Given the description of an element on the screen output the (x, y) to click on. 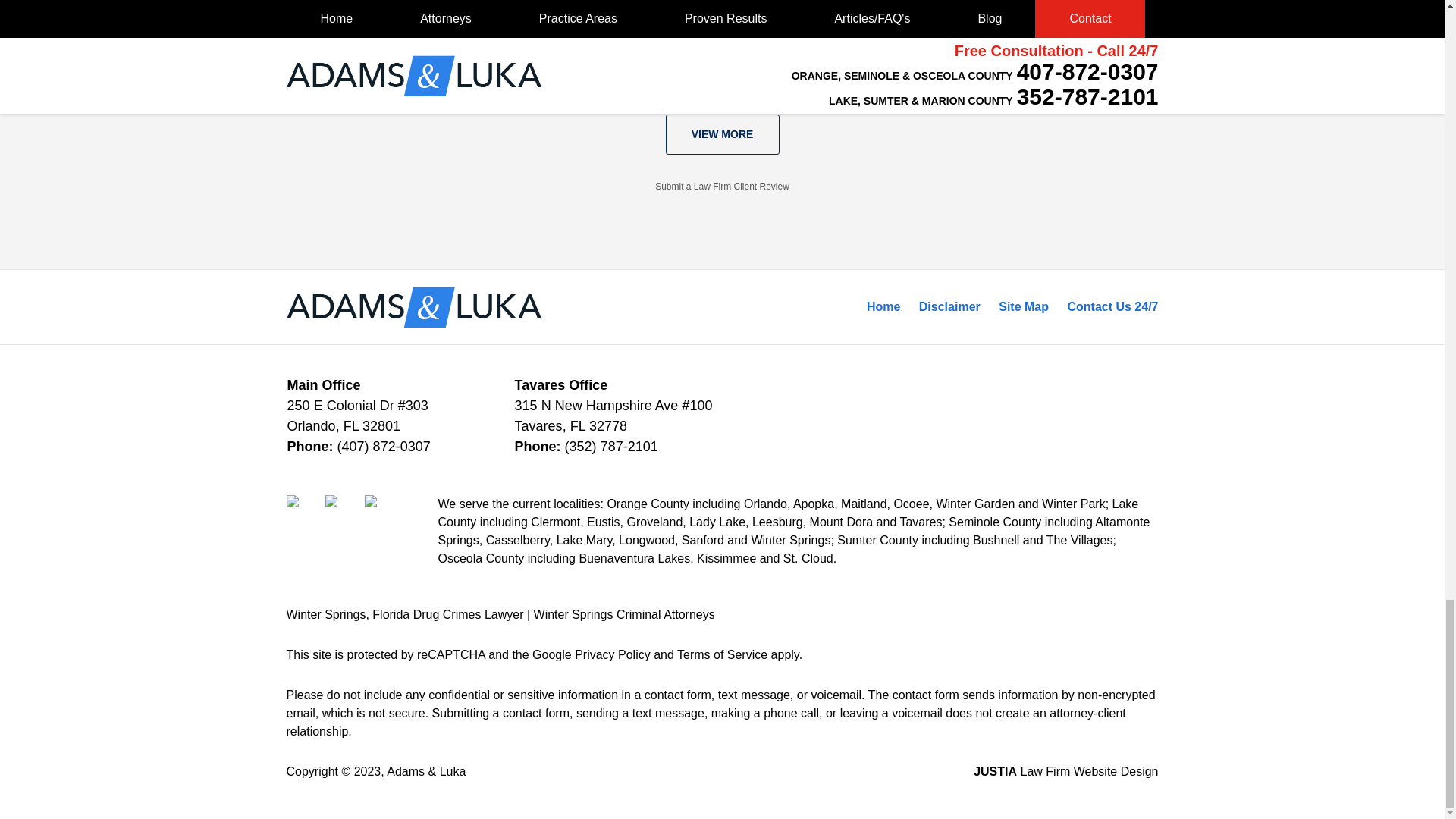
Justia (382, 512)
LinkedIn (342, 512)
Facebook (303, 512)
